Given the description of an element on the screen output the (x, y) to click on. 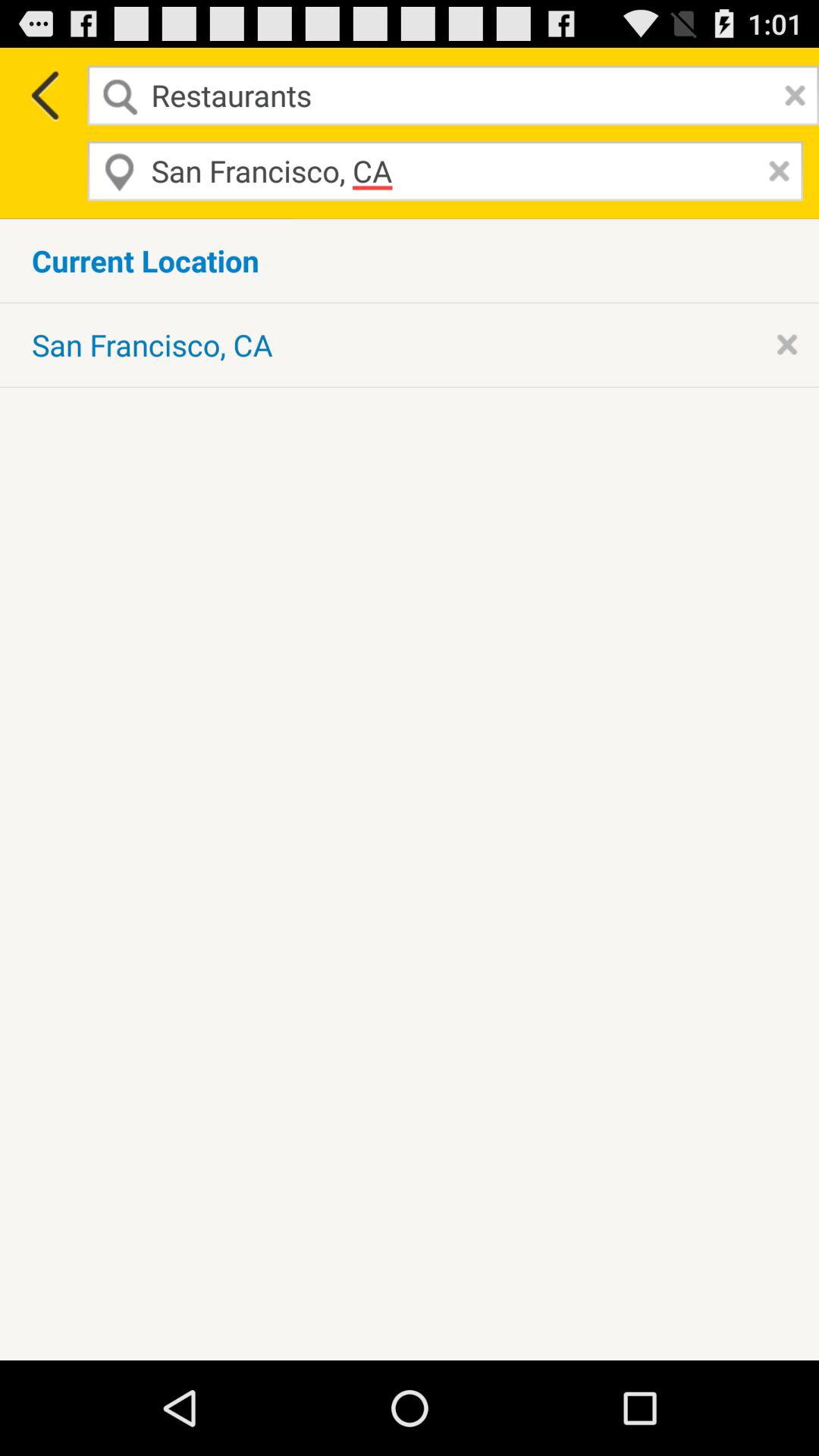
back (43, 95)
